Given the description of an element on the screen output the (x, y) to click on. 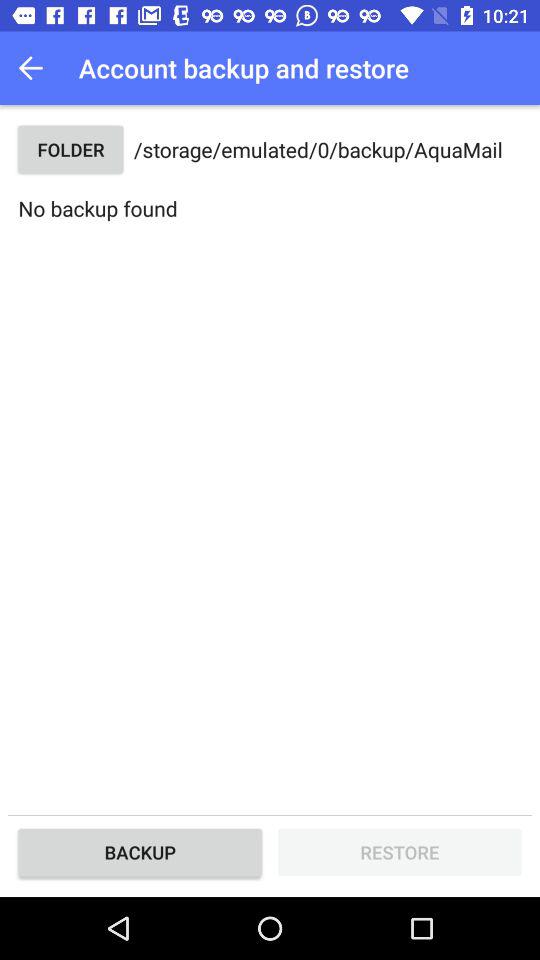
select the item above no backup found icon (70, 149)
